Given the description of an element on the screen output the (x, y) to click on. 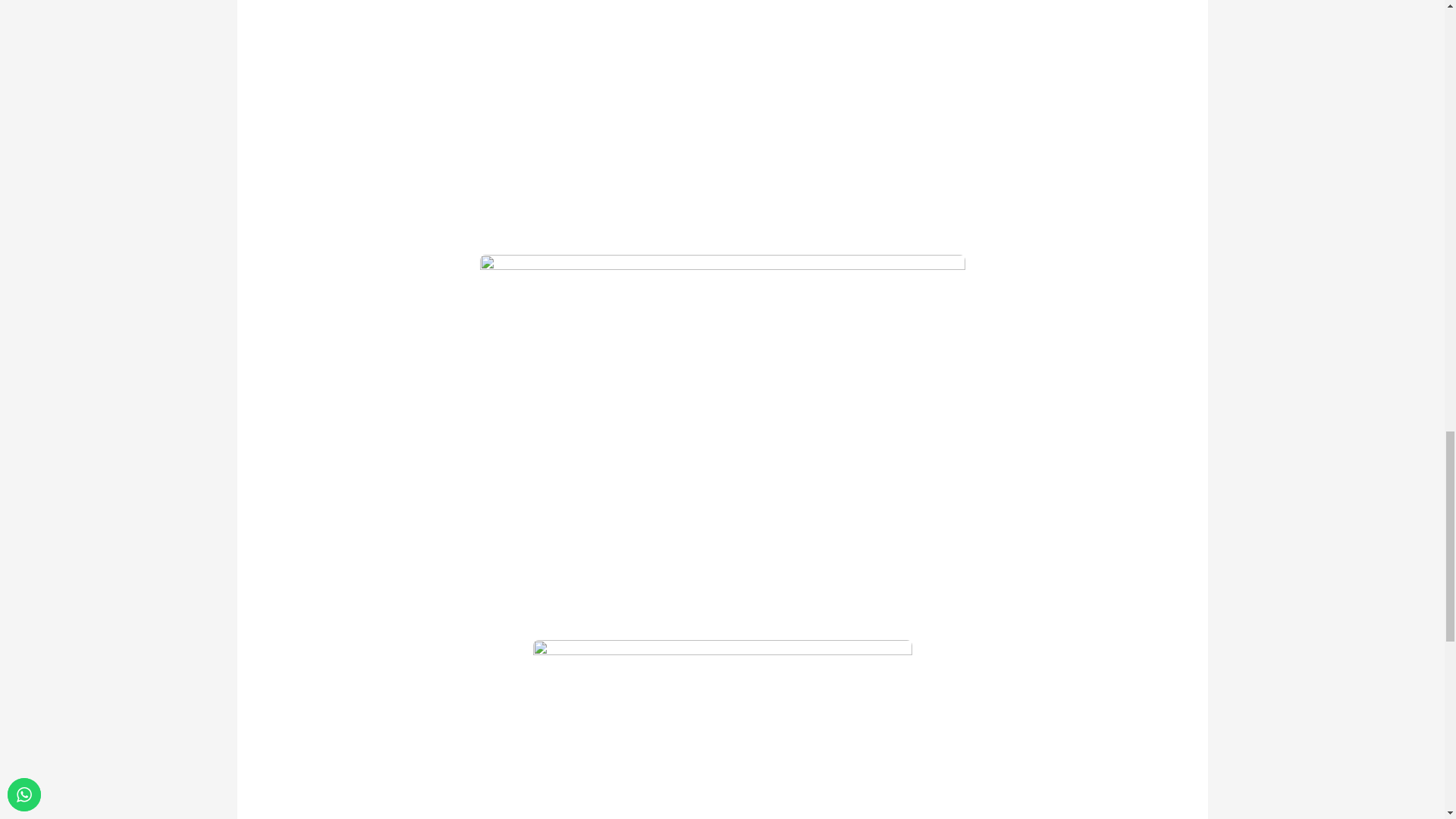
6944 102 bathroom (721, 116)
magnolia 2 bedroom floor plan courtyards at davie condo (721, 729)
